Given the description of an element on the screen output the (x, y) to click on. 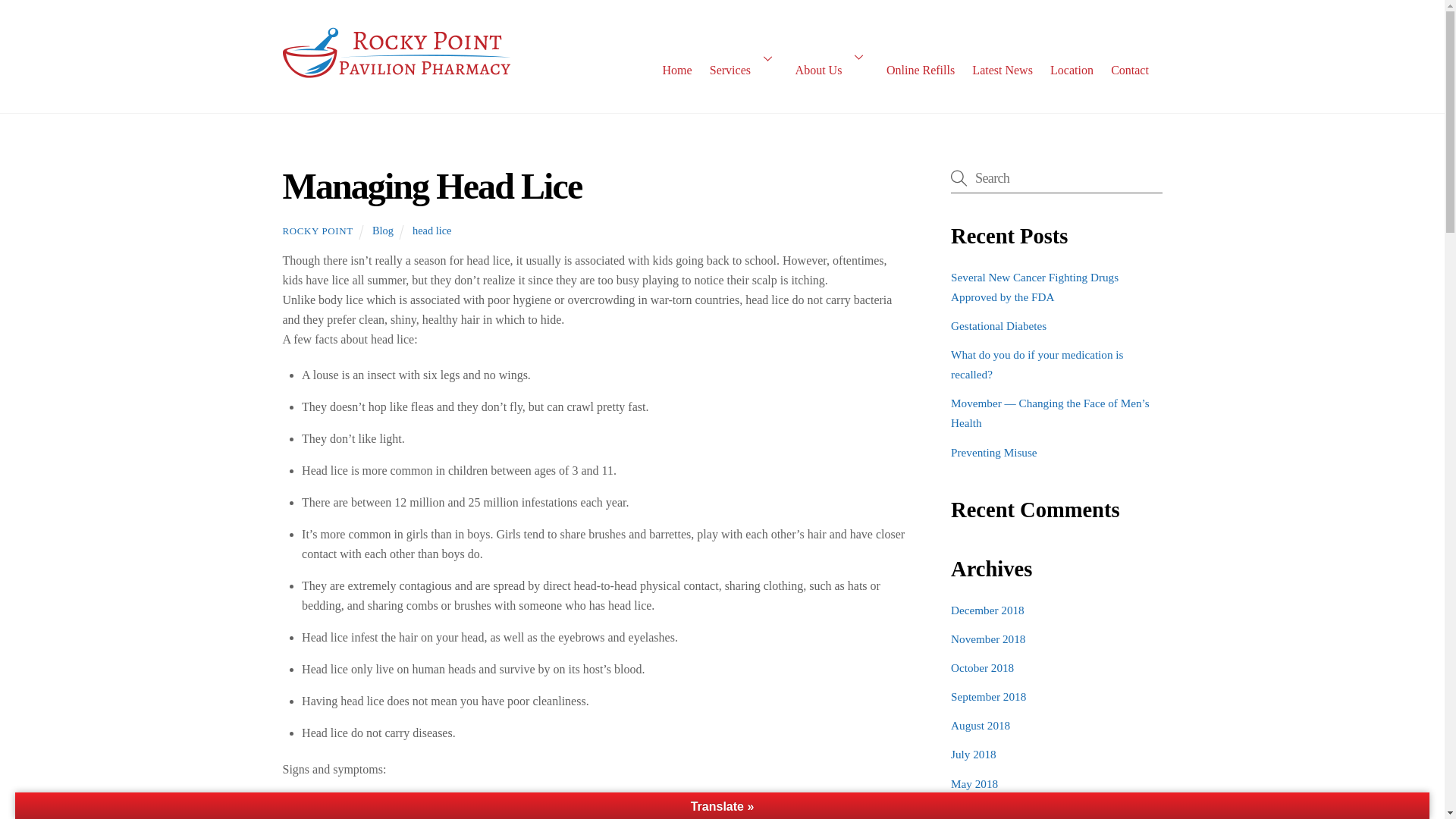
Online Refills (919, 56)
Blog (382, 230)
Managing Head Lice (431, 185)
ROCKY POINT (317, 230)
Home (676, 65)
Location (1071, 61)
Latest News (1003, 58)
Services (742, 56)
Search (1055, 177)
head lice (431, 230)
Contact (1129, 63)
Rocky Point Pavilion Pharmacy (395, 77)
rpppNewLogo (395, 53)
About Us (831, 55)
